Given the description of an element on the screen output the (x, y) to click on. 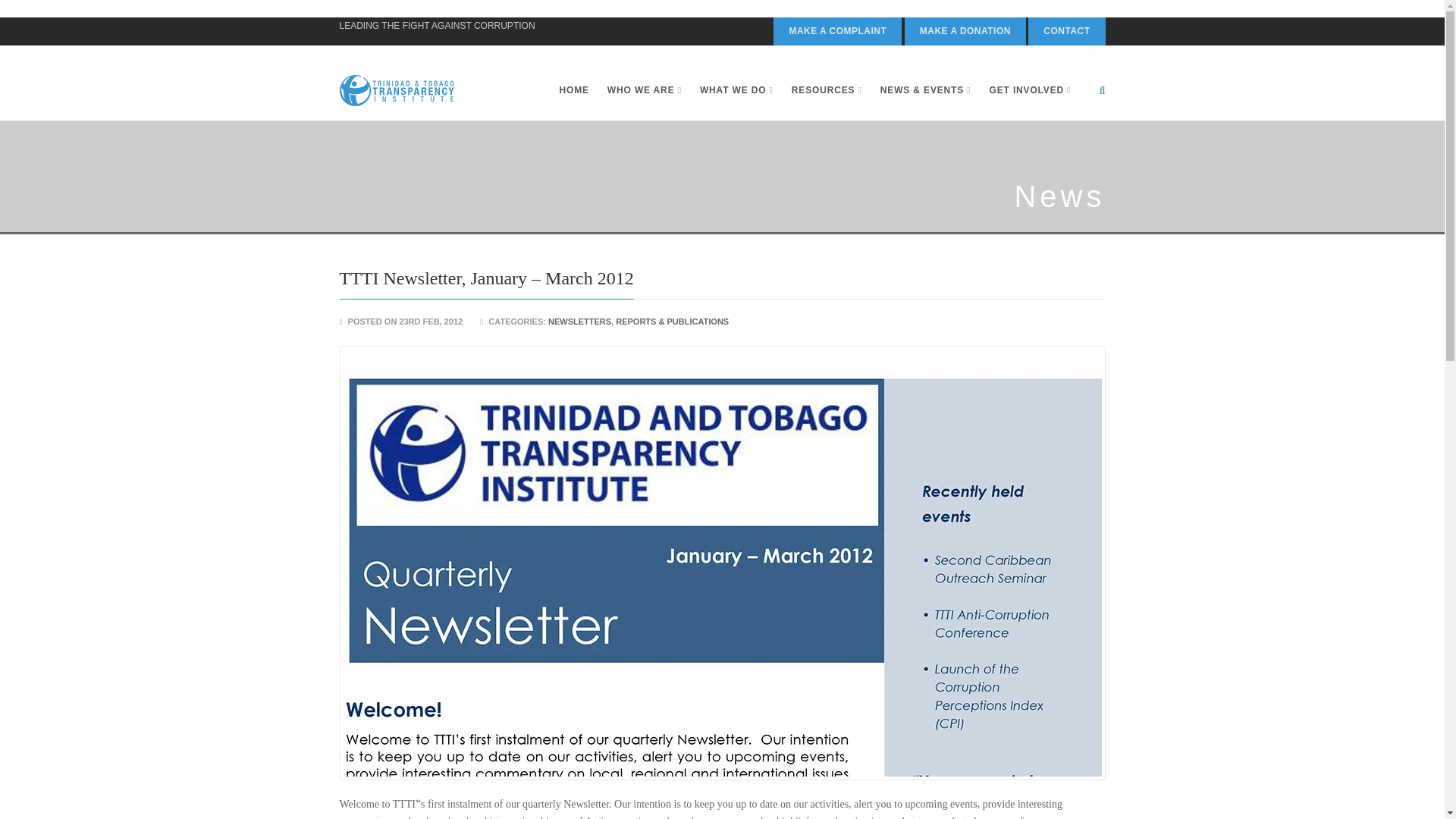
RESOURCES (826, 90)
WHO WE ARE (644, 90)
MAKE A DONATION (965, 31)
CONTACT (1066, 31)
MAKE A COMPLAINT (837, 31)
GET INVOLVED (1025, 90)
WHAT WE DO (736, 90)
HOME (573, 90)
